Given the description of an element on the screen output the (x, y) to click on. 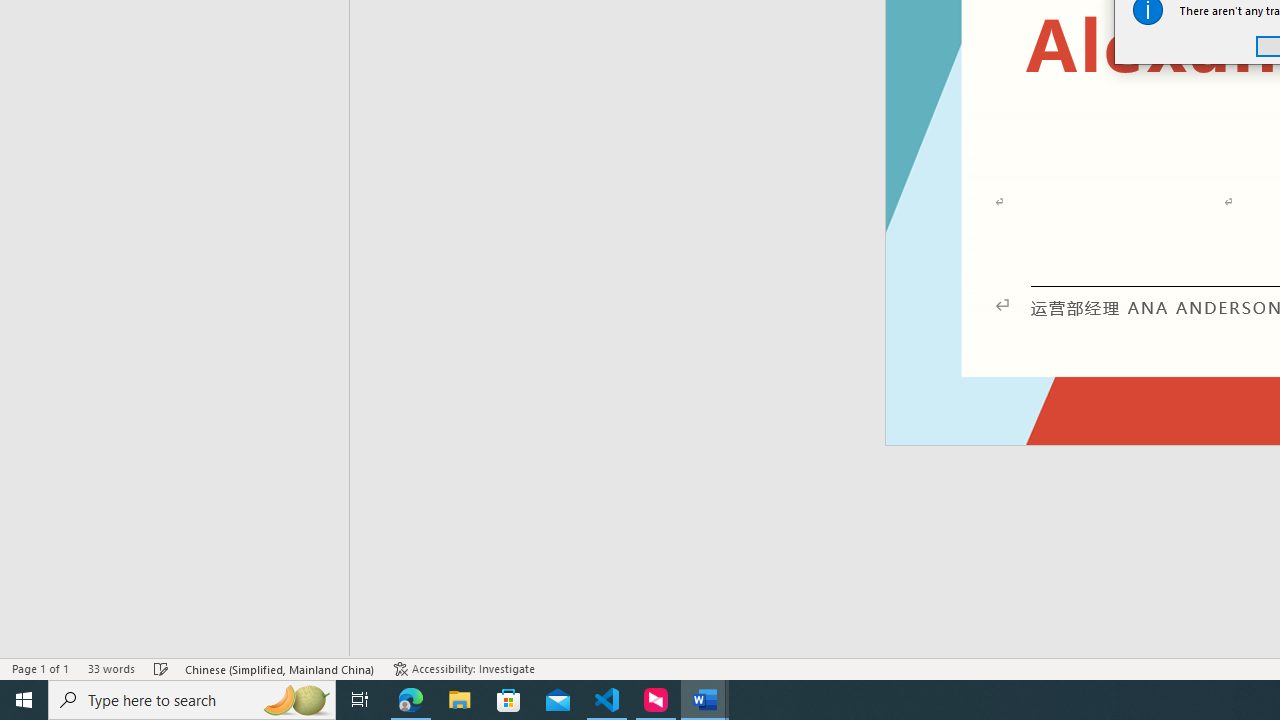
Microsoft Store (509, 699)
Microsoft Edge - 1 running window (411, 699)
Spelling and Grammar Check Checking (161, 668)
Task View (359, 699)
Type here to search (191, 699)
Visual Studio Code - 1 running window (607, 699)
Language Chinese (Simplified, Mainland China) (279, 668)
Page Number Page 1 of 1 (39, 668)
File Explorer (460, 699)
Search highlights icon opens search home window (295, 699)
Word - 2 running windows (704, 699)
Accessibility Checker Accessibility: Investigate (464, 668)
Start (24, 699)
